Given the description of an element on the screen output the (x, y) to click on. 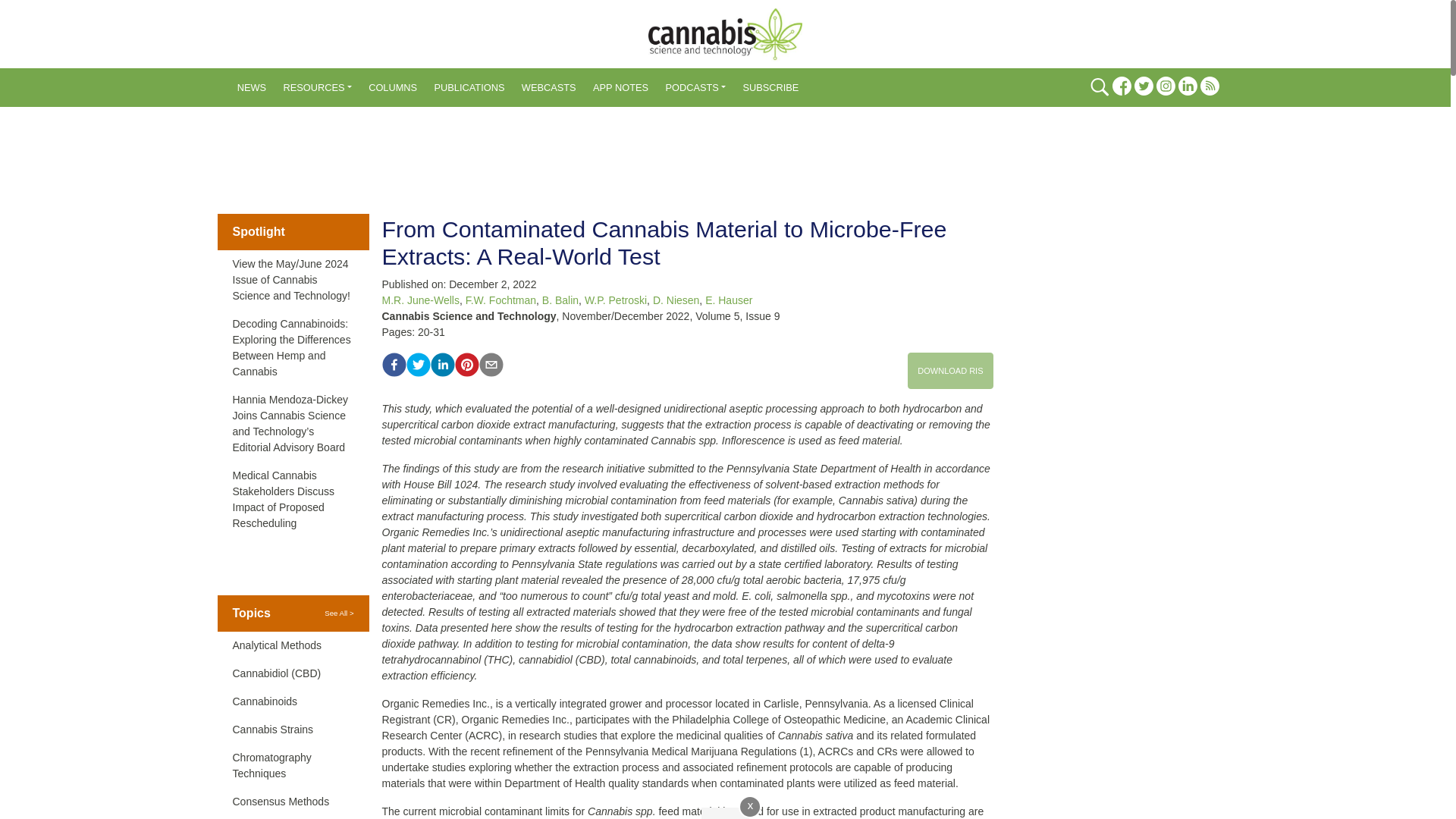
RESOURCES (317, 87)
PODCASTS (694, 87)
PUBLICATIONS (468, 87)
COLUMNS (392, 87)
NEWS (251, 87)
WEBCASTS (549, 87)
APP NOTES (620, 87)
